Given the description of an element on the screen output the (x, y) to click on. 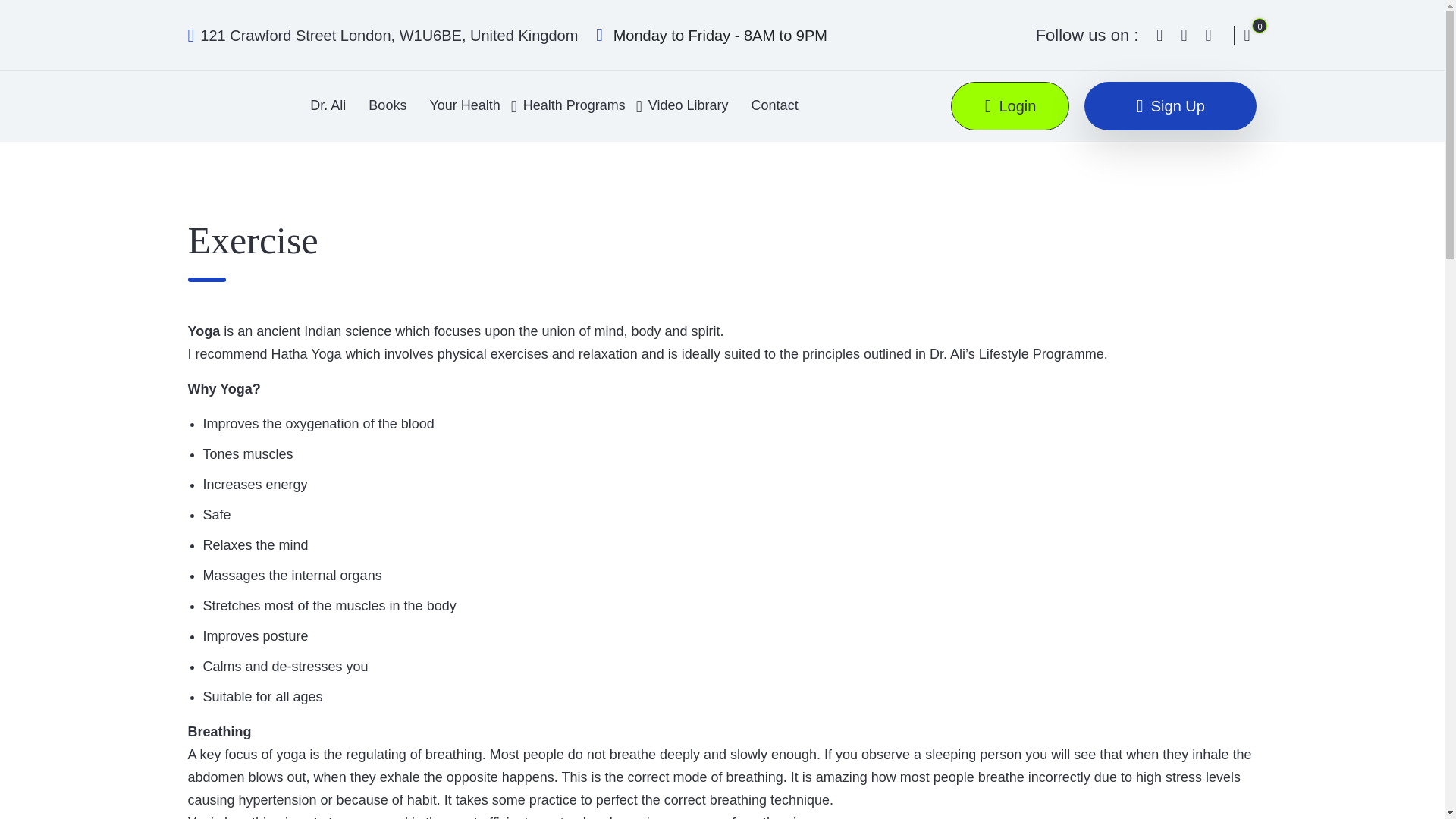
Your Health (464, 105)
Contact (774, 105)
Dr. Ali (328, 105)
Books (387, 105)
121 Crawford Street London, W1U6BE, United Kingdom (382, 35)
0 (1244, 35)
My Basket (1244, 35)
Video Library (688, 105)
Sign Up (1170, 105)
Login (1009, 105)
